Given the description of an element on the screen output the (x, y) to click on. 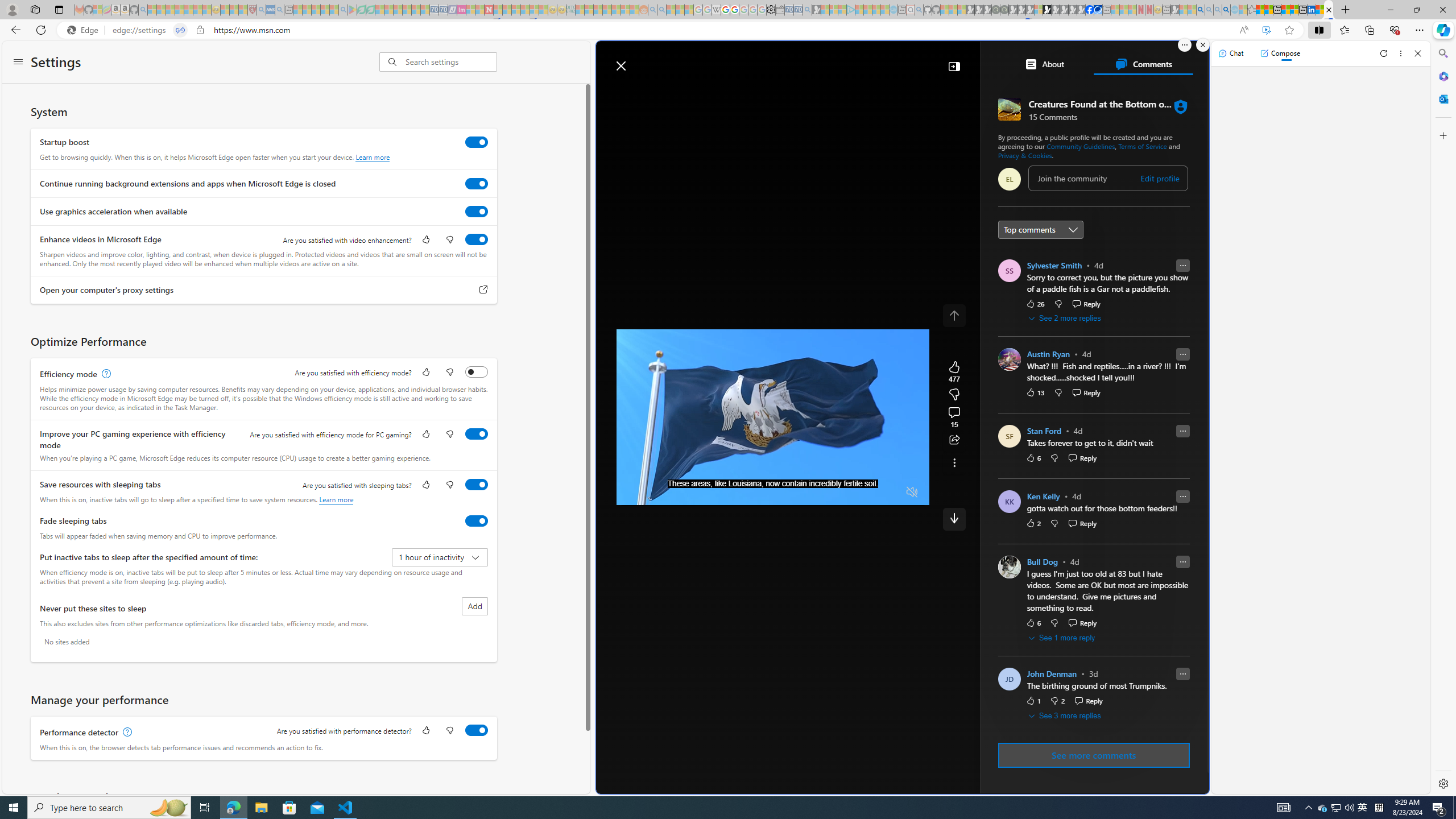
Community Guidelines (1080, 145)
 GettyImages-2157578835.jpg (1161, 385)
John Denman (1051, 674)
Captions (867, 492)
Wallet - Sleeping (779, 9)
Comments (1143, 63)
